Given the description of an element on the screen output the (x, y) to click on. 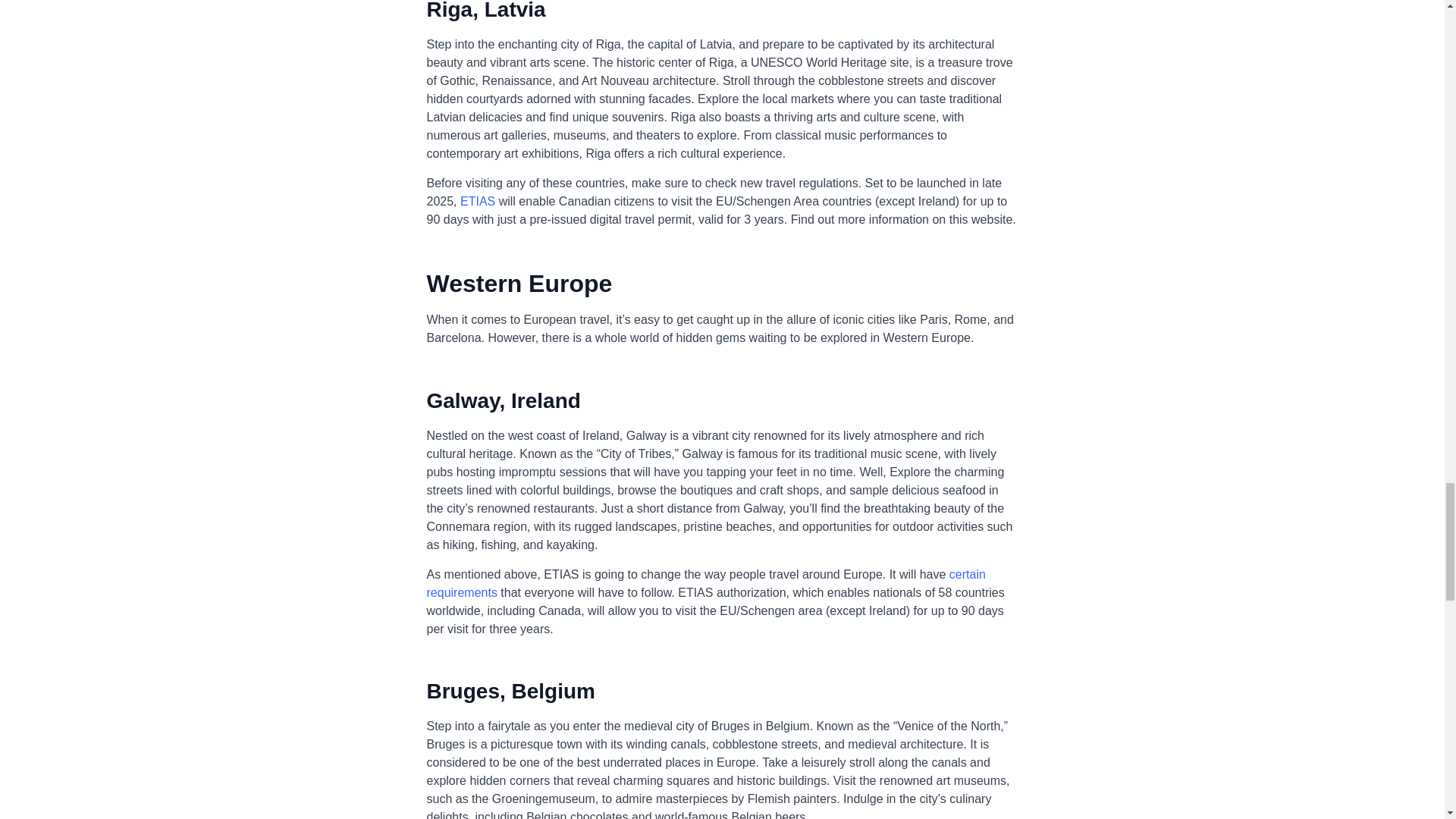
certain requirements (705, 583)
ETIAS (477, 201)
